Given the description of an element on the screen output the (x, y) to click on. 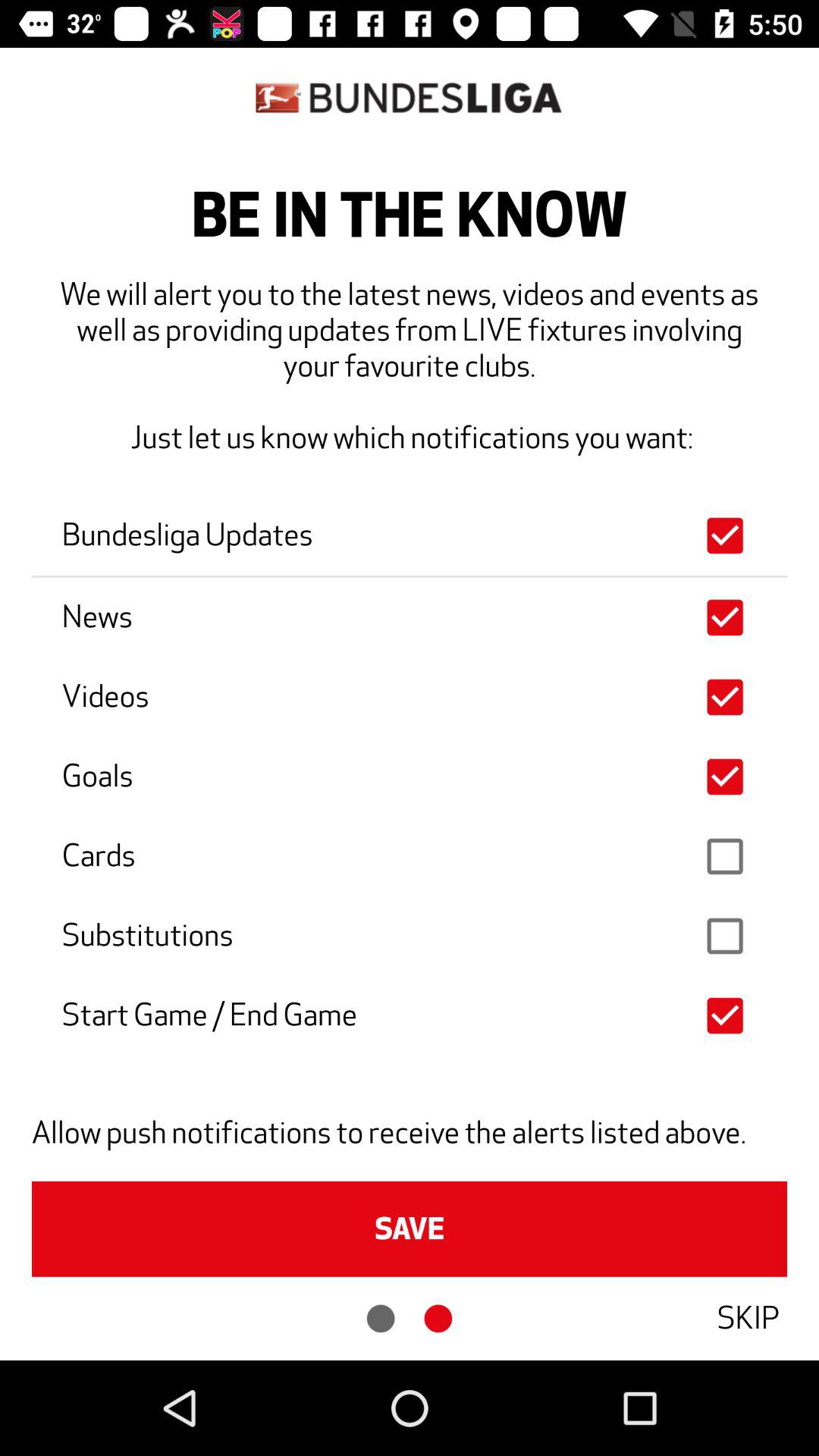
launch the icon below save item (748, 1318)
